Given the description of an element on the screen output the (x, y) to click on. 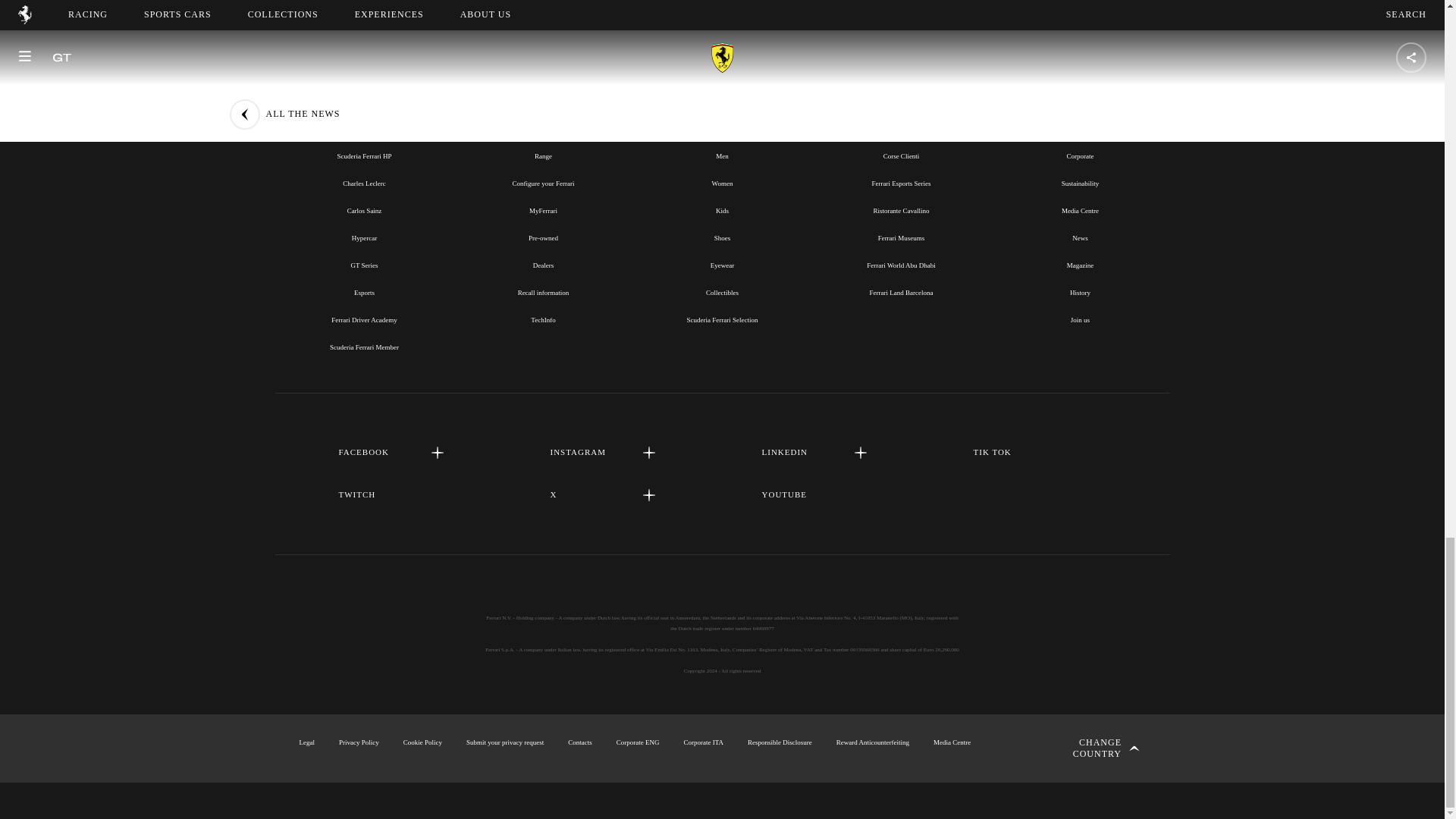
COLLECTIONS (721, 121)
Scuderia Ferrari HP (363, 155)
Recall information (543, 292)
Dealers (542, 265)
Range (542, 155)
Change country (1090, 748)
Configure your Ferrari (543, 183)
RACING (363, 121)
Scuderia Ferrari Member (364, 347)
COLLECTIONS (721, 121)
MyFerrari (543, 210)
SPORTS CARS (542, 121)
Hypercar (364, 237)
GT Series (363, 265)
Esports (363, 292)
